Given the description of an element on the screen output the (x, y) to click on. 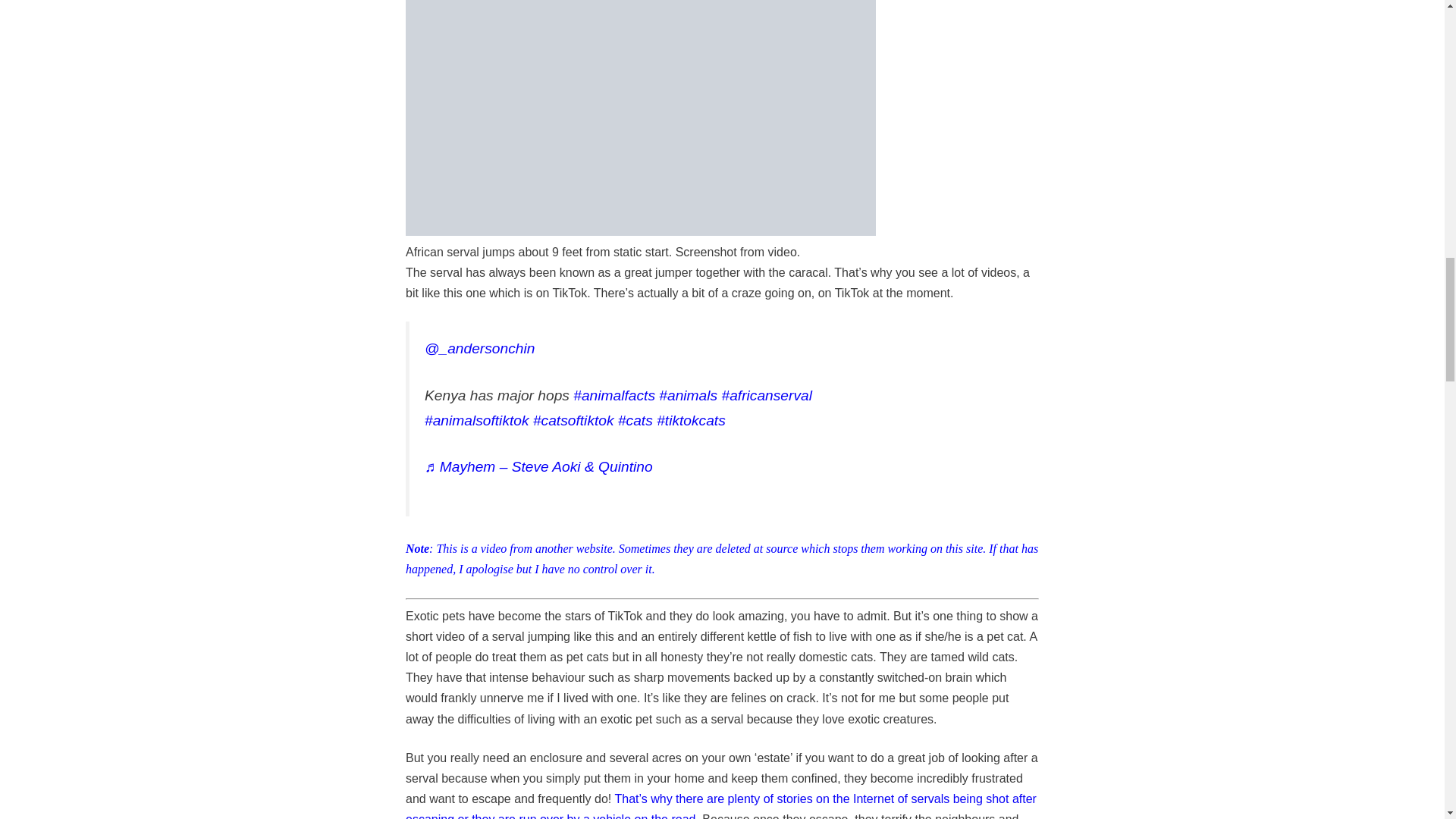
animalfacts (614, 395)
animals (688, 395)
cats (634, 420)
animalsoftiktok (477, 420)
tiktokcats (690, 420)
catsoftiktok (573, 420)
africanserval (765, 395)
